Given the description of an element on the screen output the (x, y) to click on. 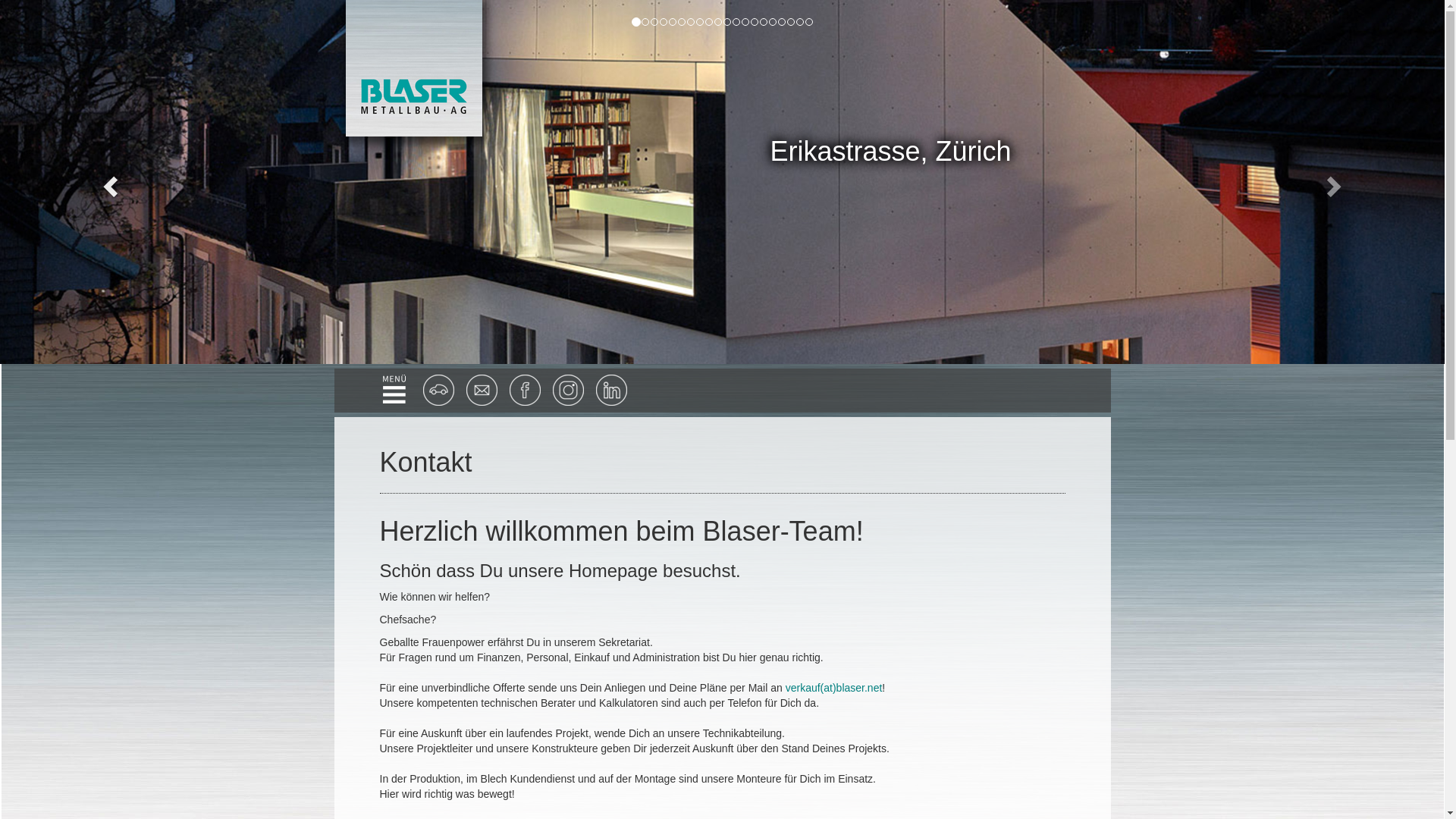
Next Element type: text (1335, 182)
Previous Element type: text (108, 182)
Blaser Metallbau AG Element type: hover (413, 67)
verkauf(at)blaser.net Element type: text (833, 687)
